Given the description of an element on the screen output the (x, y) to click on. 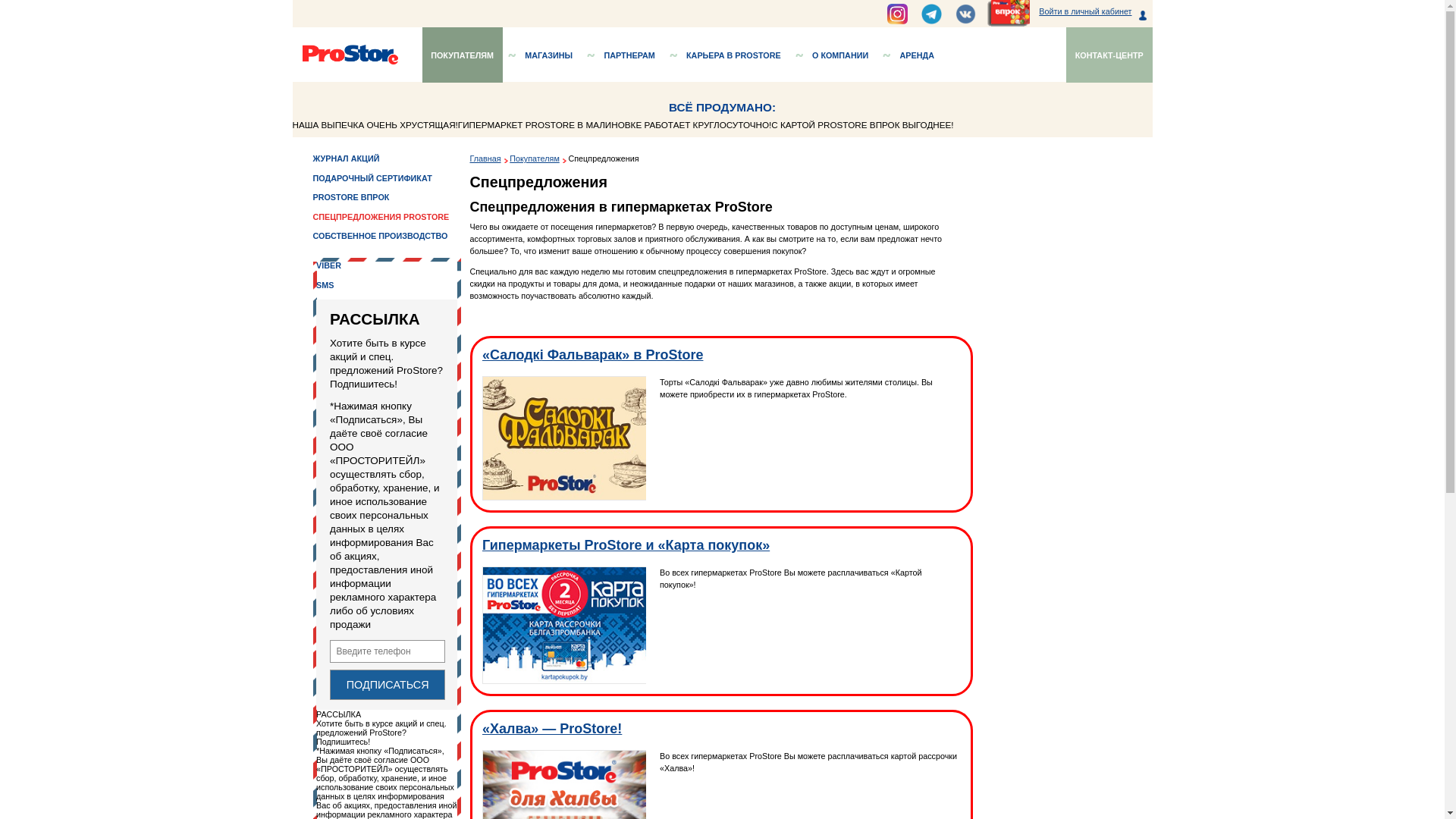
SMS Element type: text (360, 316)
VIBER Element type: text (365, 295)
